Given the description of an element on the screen output the (x, y) to click on. 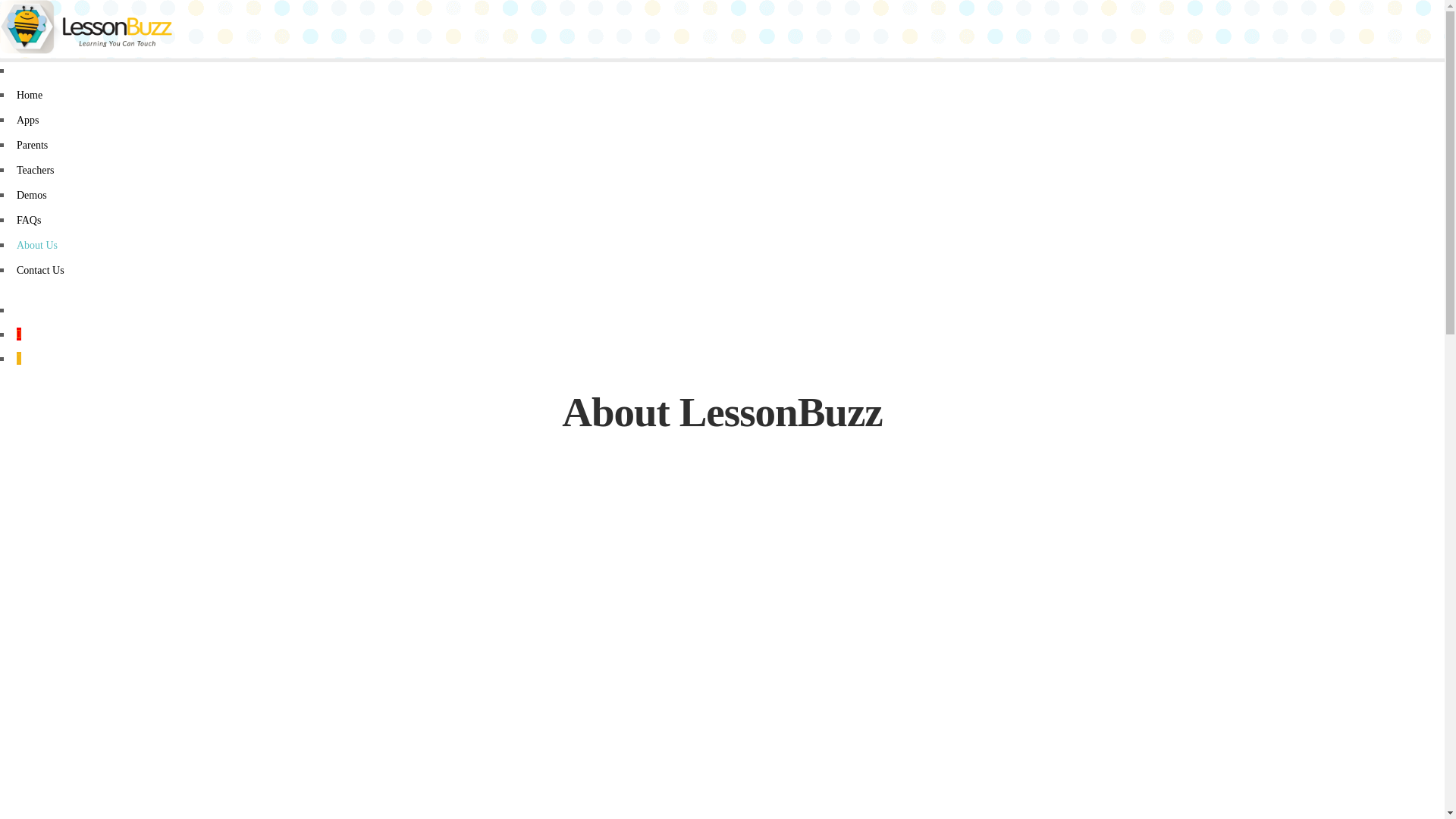
About Us Element type: text (36, 245)
Home Element type: text (29, 94)
Demos Element type: text (31, 194)
Teachers Element type: text (35, 169)
Contact Us Element type: text (40, 270)
Parents Element type: text (31, 144)
Apps Element type: text (27, 119)
FAQs Element type: text (28, 219)
